Given the description of an element on the screen output the (x, y) to click on. 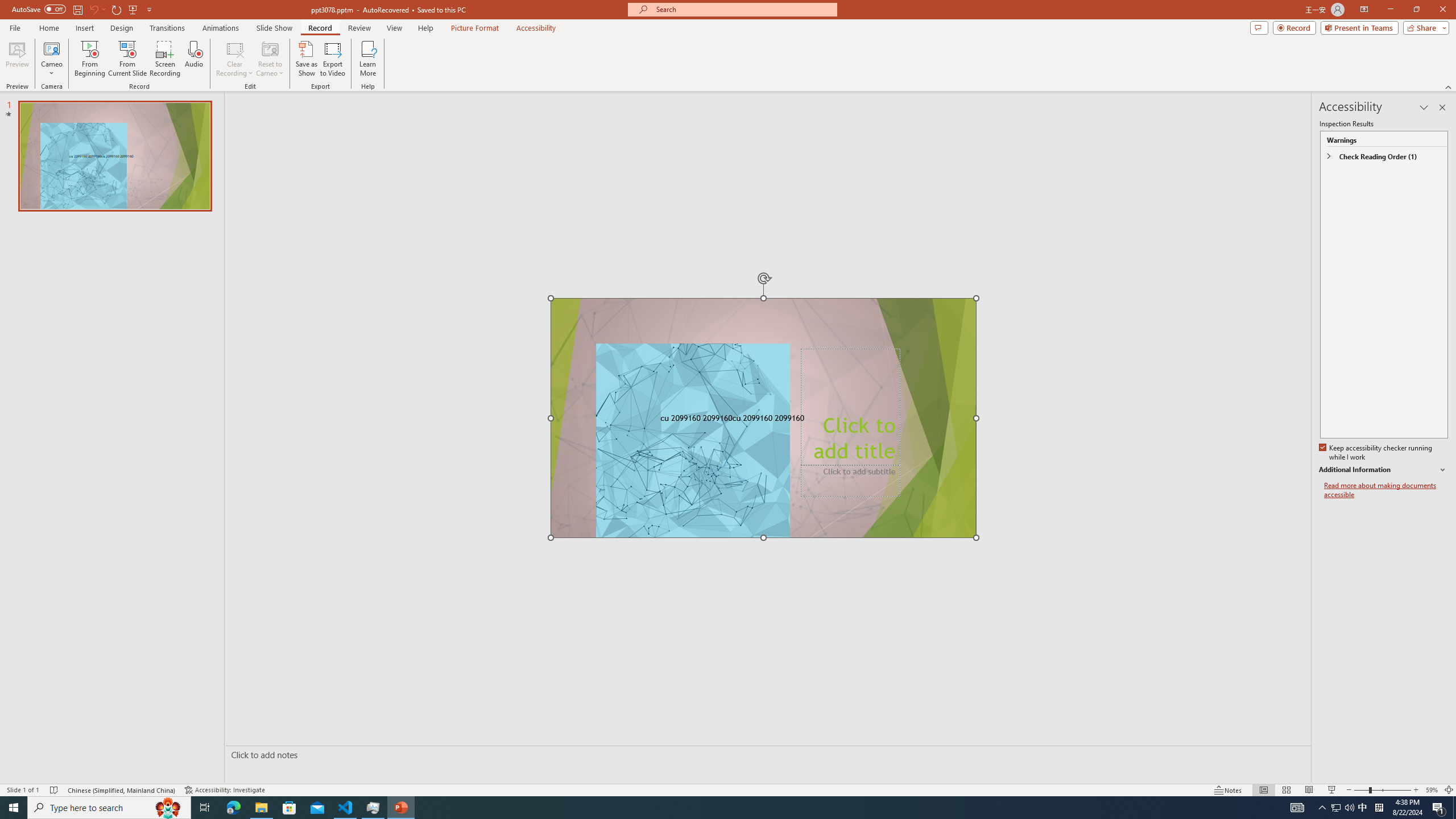
Save as Show (306, 58)
Audio (193, 58)
Keep accessibility checker running while I work (1376, 452)
Export to Video (332, 58)
